Given the description of an element on the screen output the (x, y) to click on. 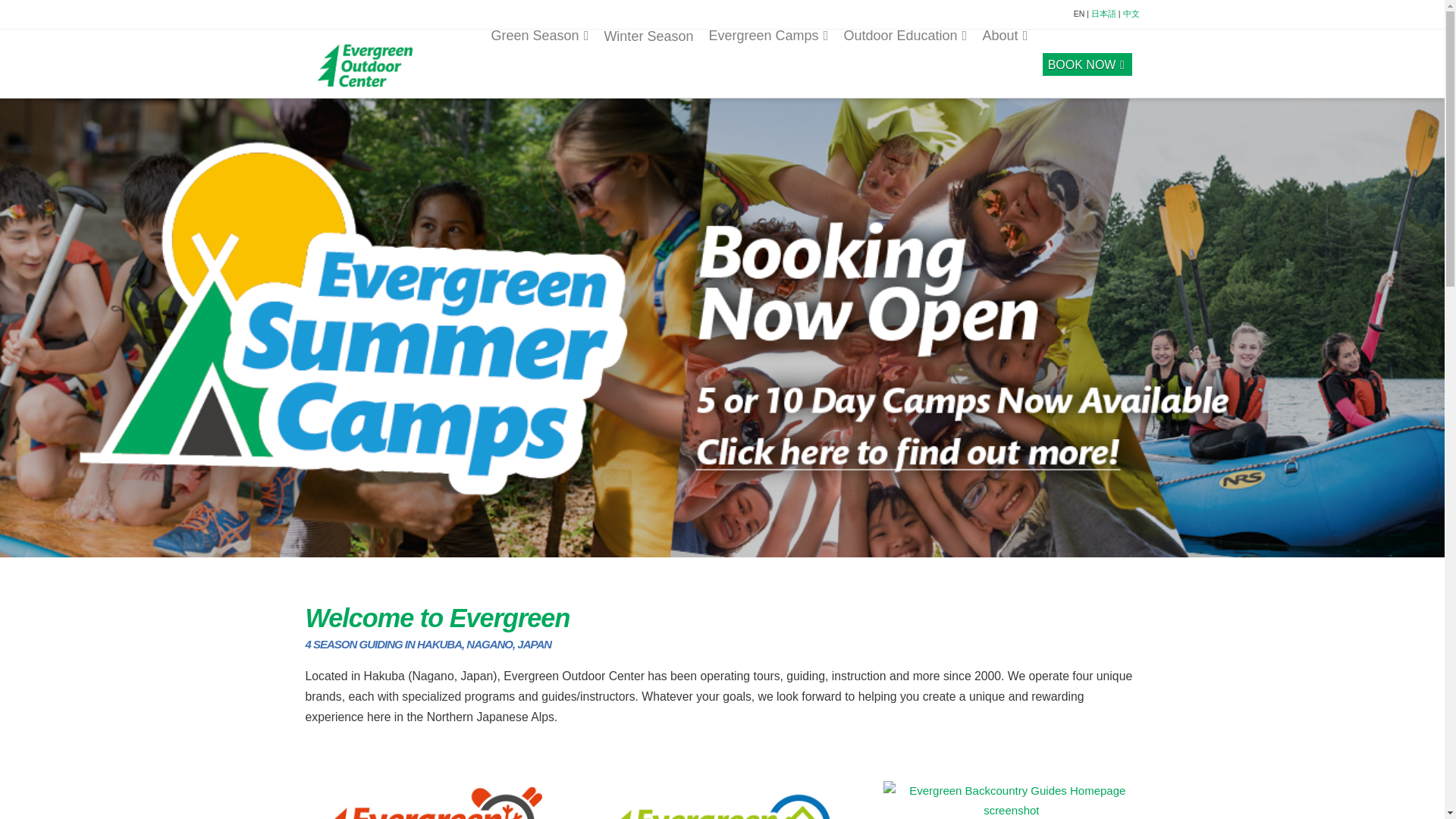
BOOK NOW (1086, 62)
Evergreen Camps (767, 62)
Outdoor Education (904, 62)
Green Season (539, 62)
About (1004, 62)
Winter Season (647, 63)
